Given the description of an element on the screen output the (x, y) to click on. 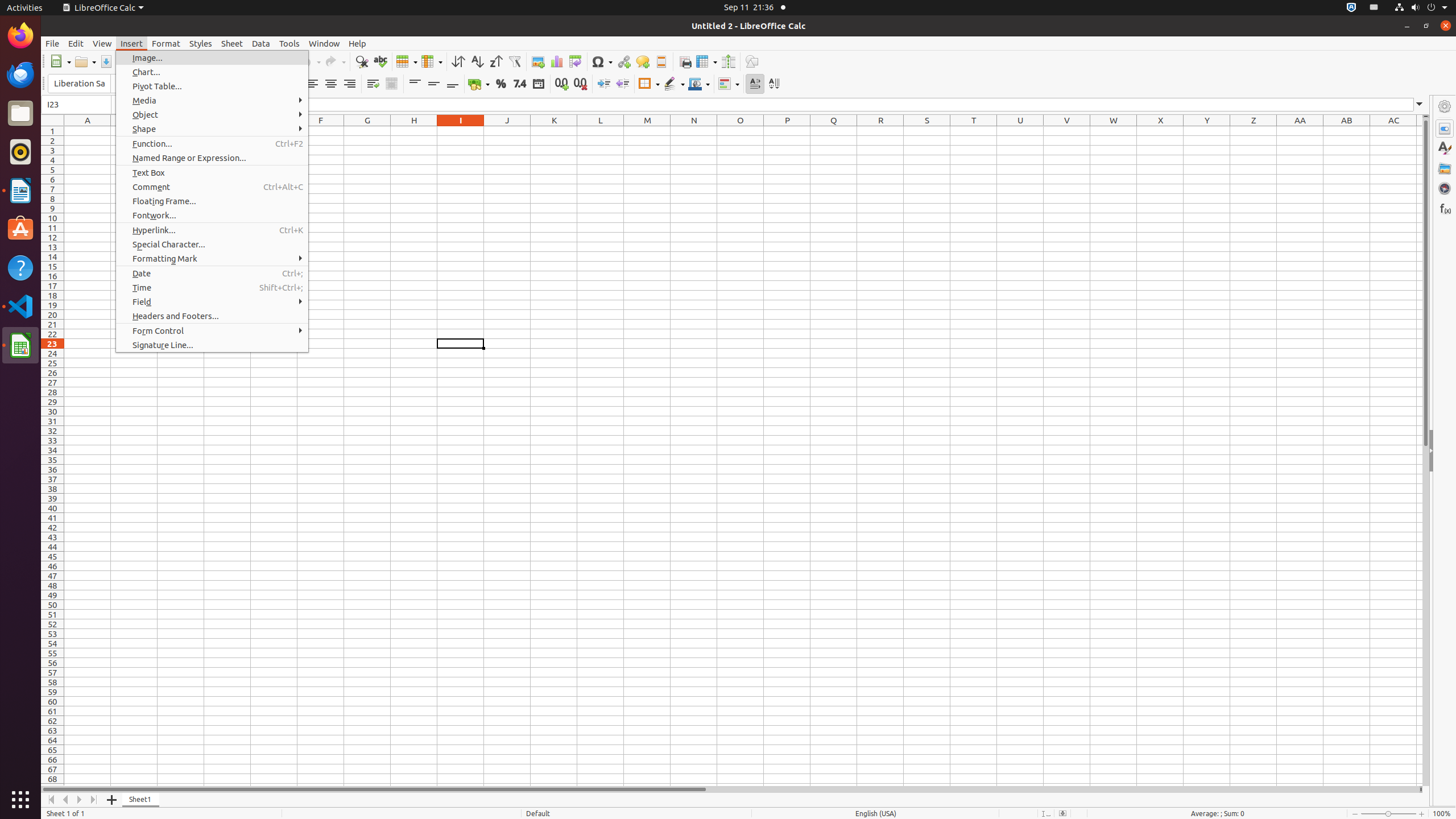
Currency Element type: push-button (478, 83)
Sheet Element type: menu (231, 43)
AA1 Element type: table-cell (1299, 130)
Symbol Element type: push-button (601, 61)
S1 Element type: table-cell (926, 130)
